Given the description of an element on the screen output the (x, y) to click on. 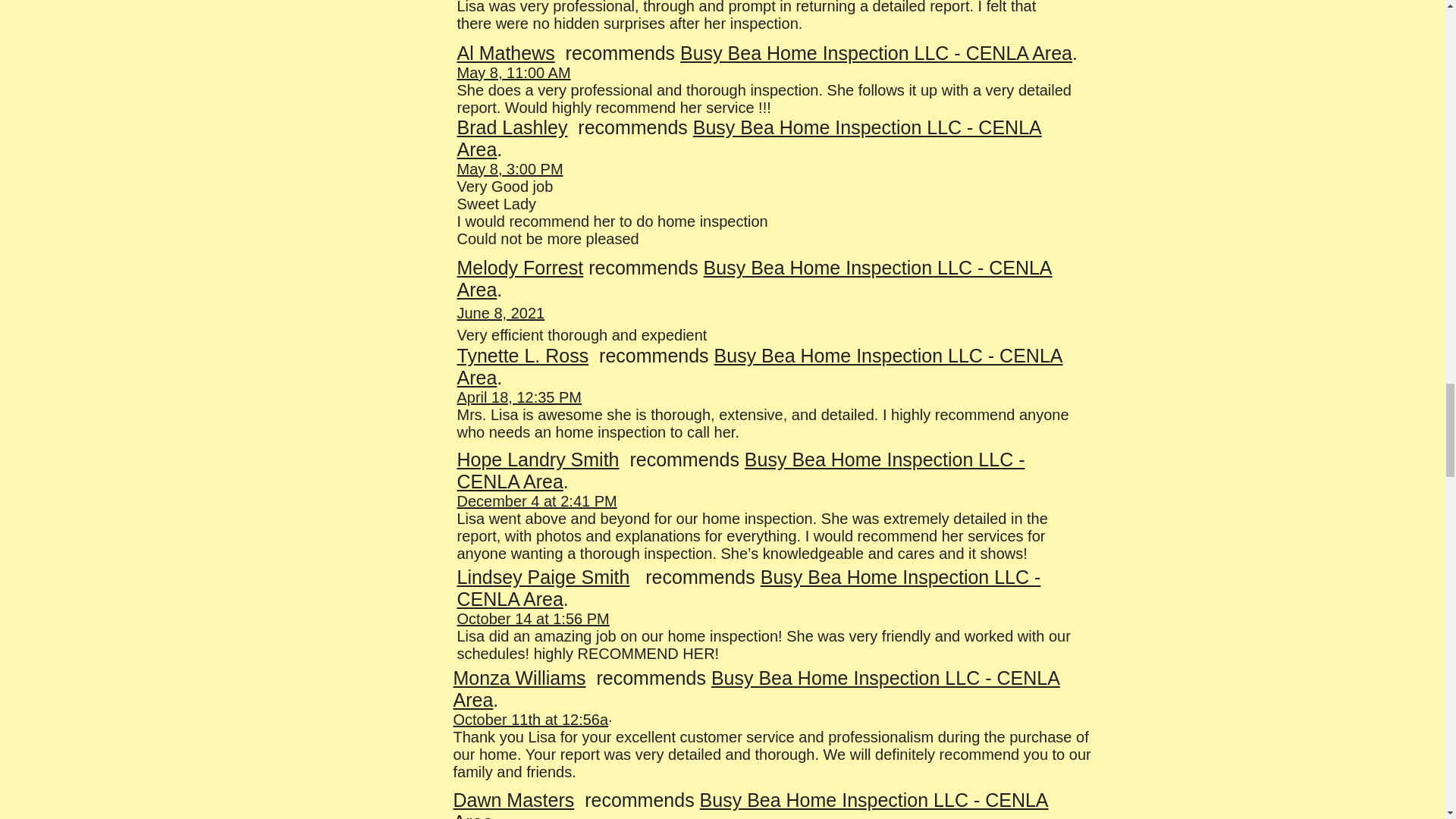
Lindsey Paige Smith (542, 577)
Brad Lashley (512, 127)
May 8, 11:00 AM (513, 72)
Hope Landry Smith (537, 459)
Busy Bea Home Inspection LLC - CENLA Area (749, 587)
Busy Bea Home Inspection LLC - CENLA Area (875, 52)
May 8, 3:00 PM (509, 168)
December 4 at 2:41 PM (536, 501)
Busy Bea Home Inspection LLC - CENLA Area (750, 804)
Tynette L. Ross (522, 355)
